Given the description of an element on the screen output the (x, y) to click on. 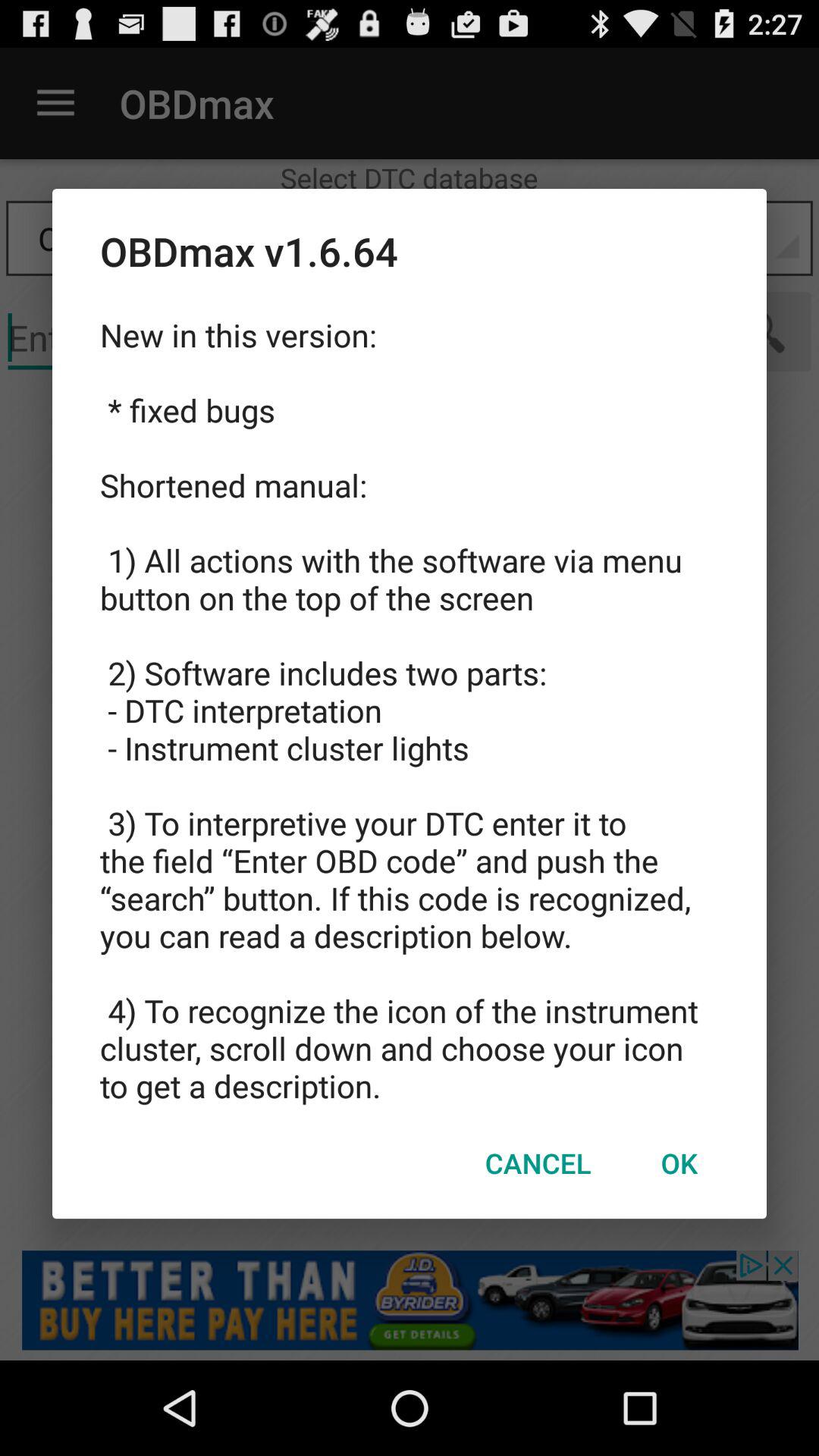
tap the item below new in this icon (678, 1162)
